Given the description of an element on the screen output the (x, y) to click on. 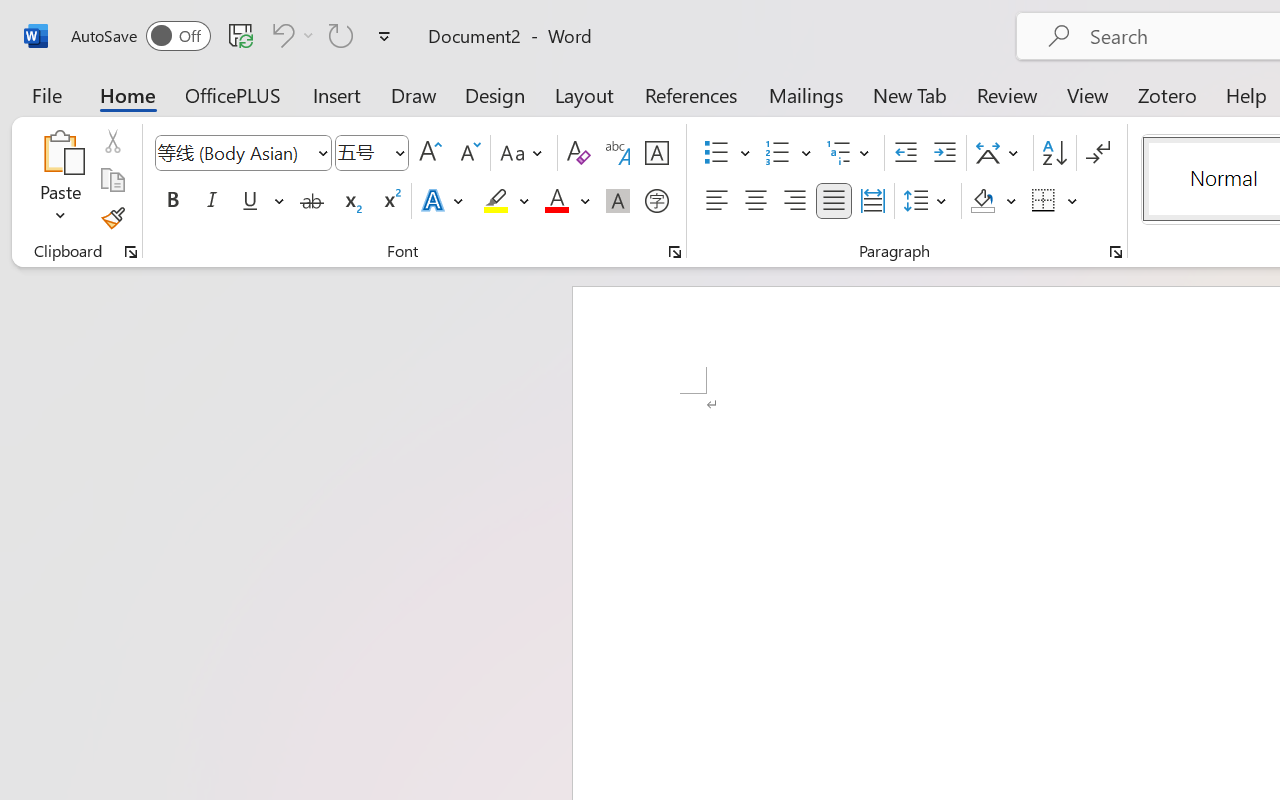
Align Right (794, 201)
Paste (60, 179)
